Given the description of an element on the screen output the (x, y) to click on. 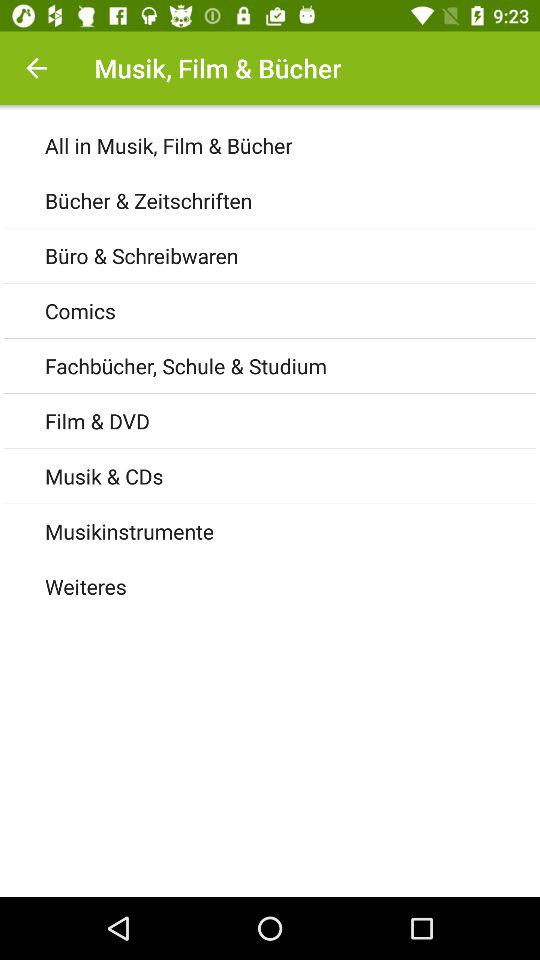
select the icon above the all in musik (36, 68)
